Given the description of an element on the screen output the (x, y) to click on. 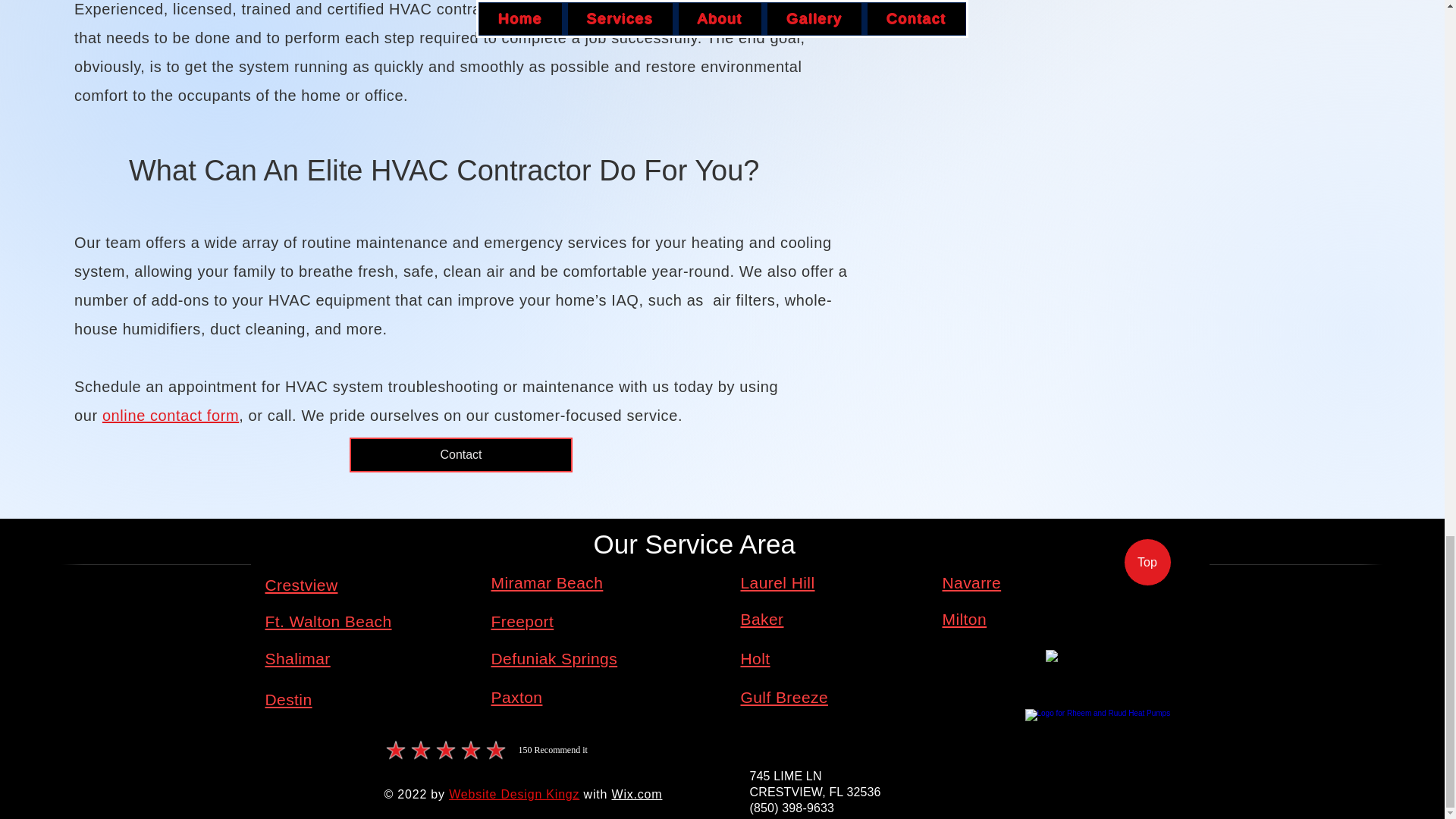
Miramar Beach (548, 582)
online contact form (169, 415)
We are BBB accredited for HVAC (1097, 676)
Freeport (523, 620)
Destin (288, 699)
Contact (460, 454)
Crestview (300, 584)
Ft. Walton Beach (327, 620)
Shalimar (297, 658)
RUUD Heat Pump Installation (1098, 750)
